Given the description of an element on the screen output the (x, y) to click on. 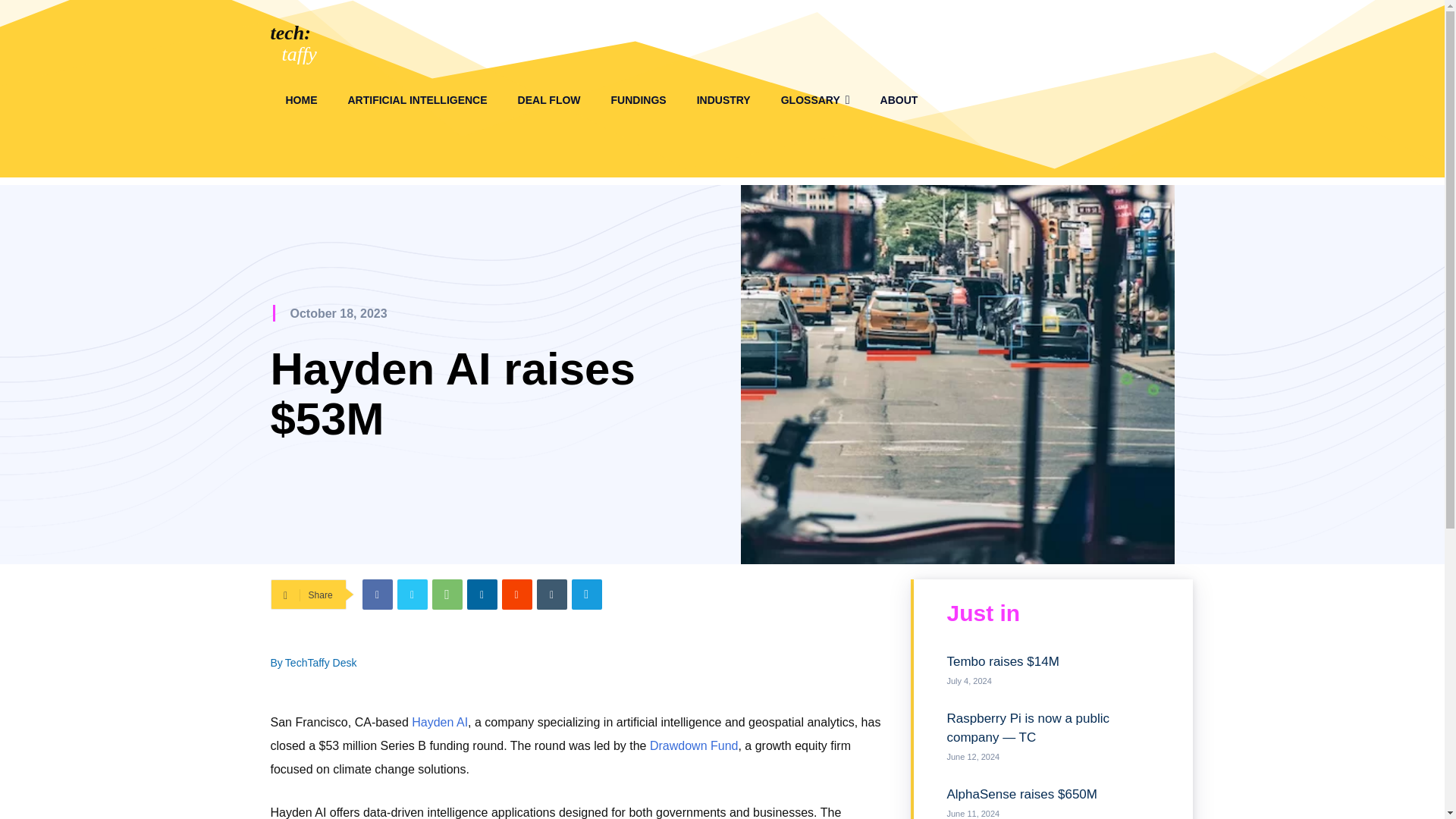
Hayden AI (439, 721)
FUNDINGS (638, 99)
Drawdown Fund (693, 745)
ARTIFICIAL INTELLIGENCE (416, 99)
GLOSSARY (814, 99)
ReddIt (517, 594)
taffy (299, 54)
Facebook (377, 594)
tech: (289, 33)
TechTaffy Desk (320, 662)
